Given the description of an element on the screen output the (x, y) to click on. 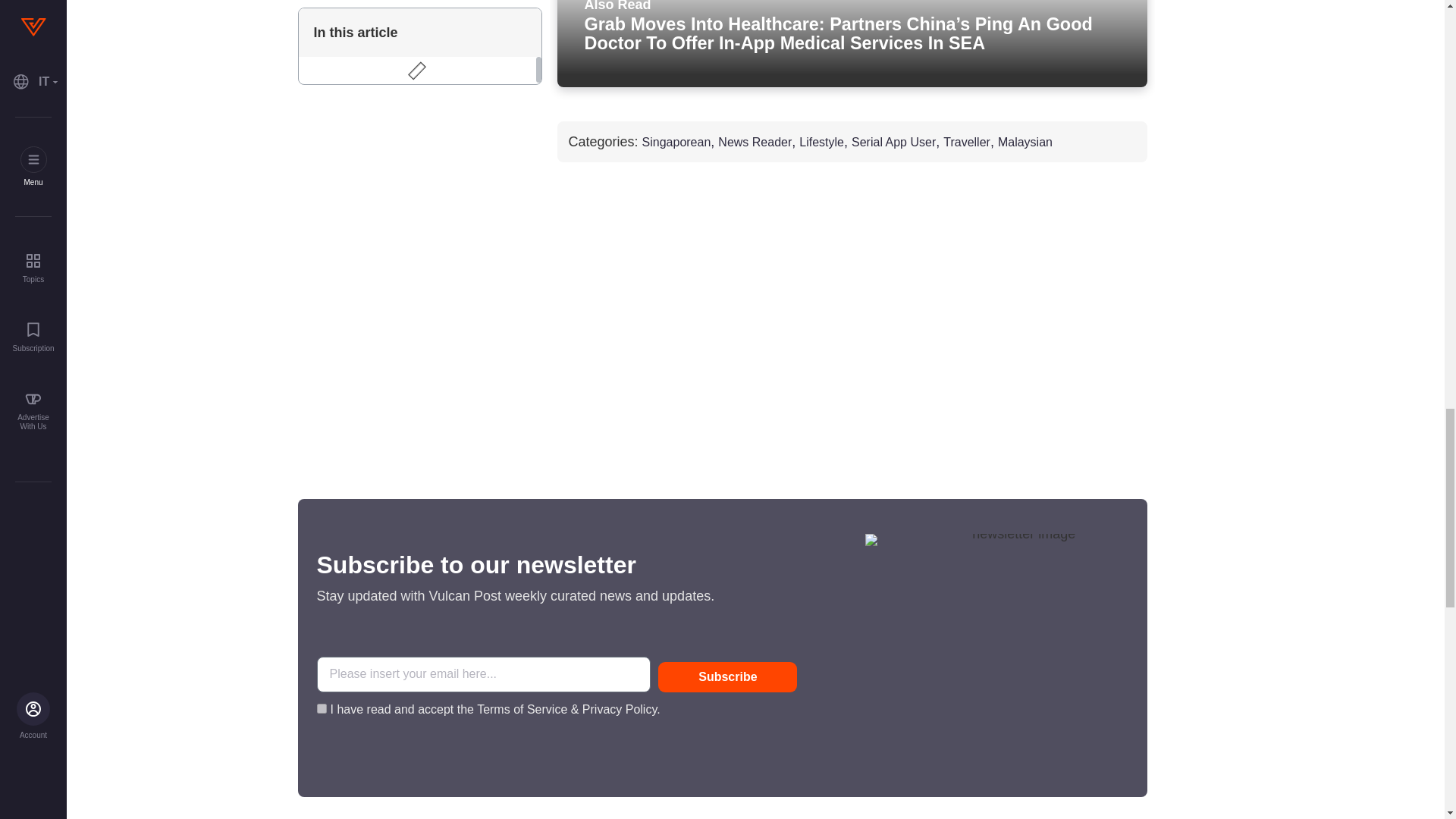
on (321, 708)
News Reader (754, 142)
Subscribe (727, 676)
Traveller (966, 142)
Lifestyle (821, 142)
Malaysian (1024, 142)
Serial App User (893, 142)
Singaporean (676, 142)
